Given the description of an element on the screen output the (x, y) to click on. 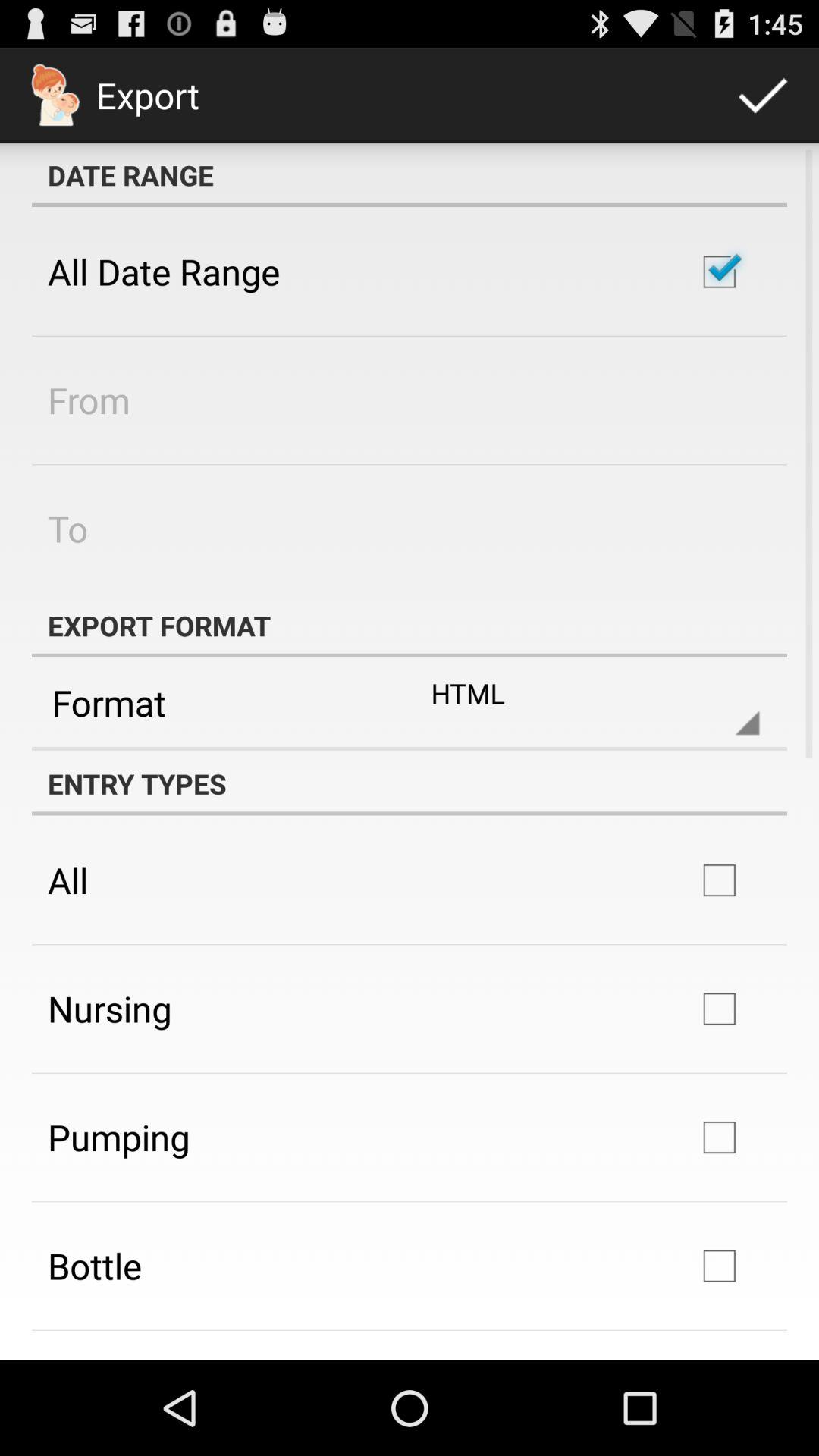
click the app below all app (109, 1008)
